Given the description of an element on the screen output the (x, y) to click on. 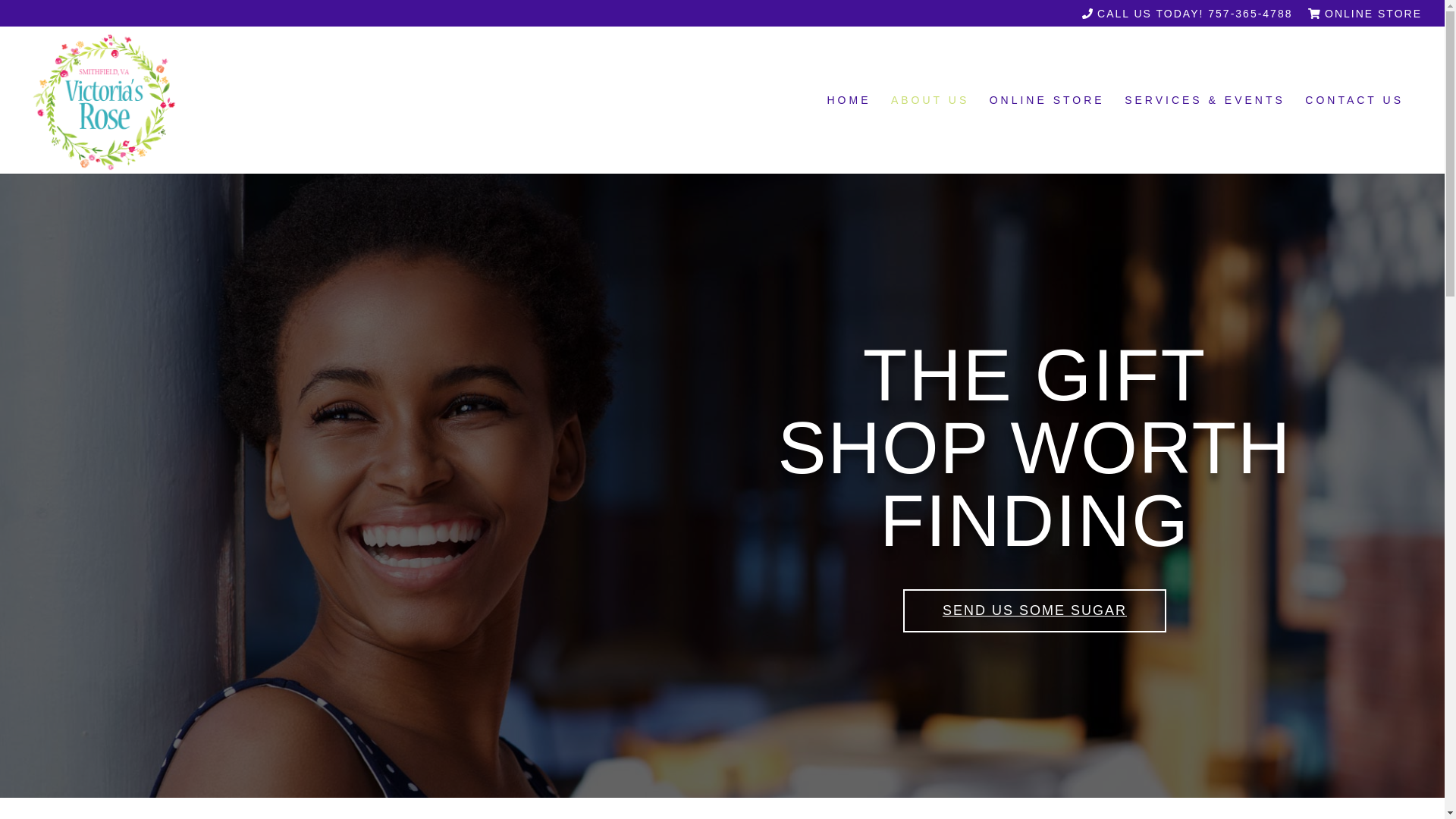
SEND US SOME SUGAR (1034, 610)
ONLINE STORE (1364, 16)
ONLINE STORE (1047, 134)
CONTACT US (1353, 134)
CALL US TODAY! 757-365-4788 (1186, 16)
ABOUT US (930, 134)
